Given the description of an element on the screen output the (x, y) to click on. 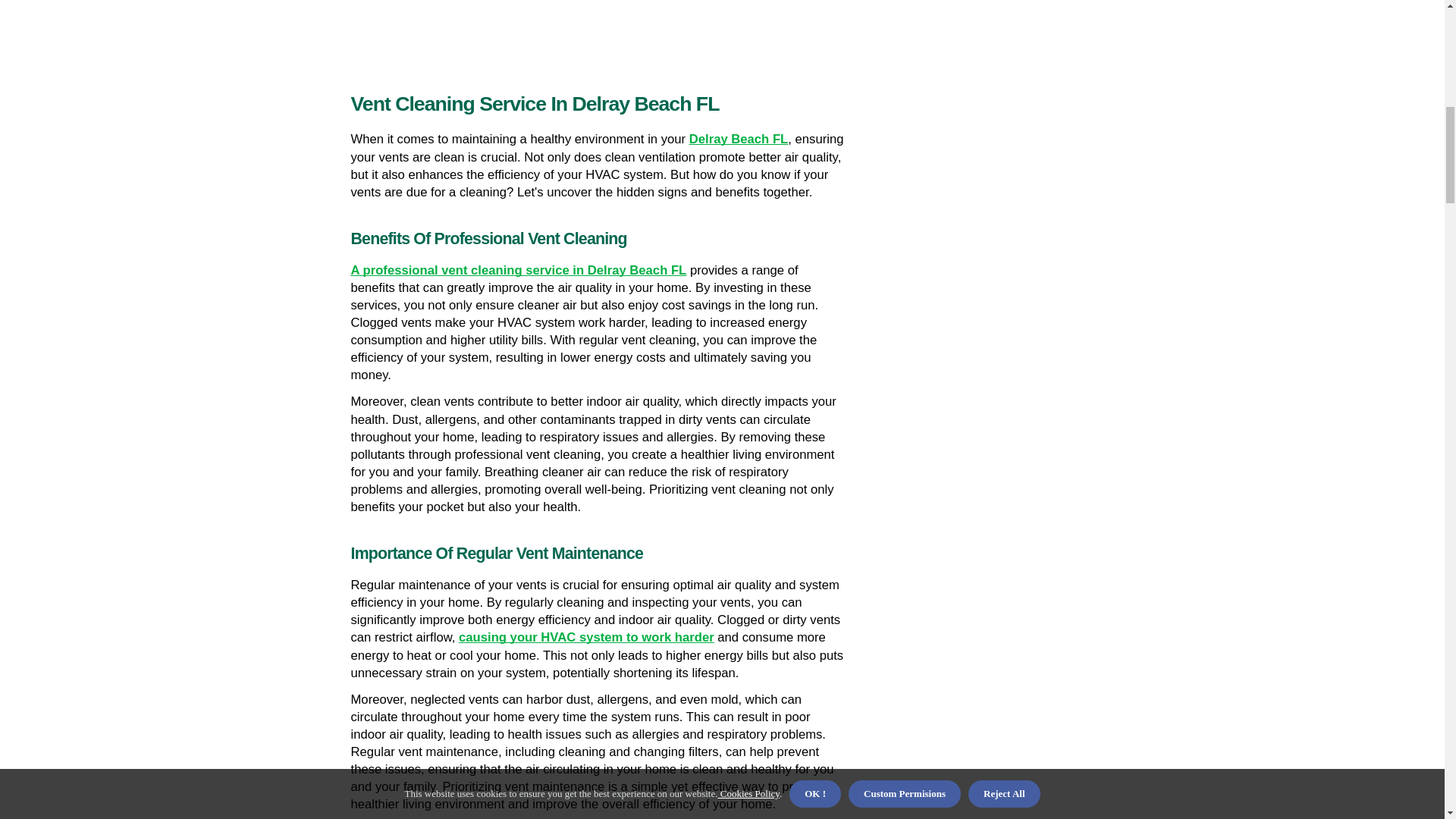
A professional vent cleaning service in Delray Beach FL (517, 269)
Delray Beach FL (738, 138)
causing your HVAC system to work harder (586, 636)
